Given the description of an element on the screen output the (x, y) to click on. 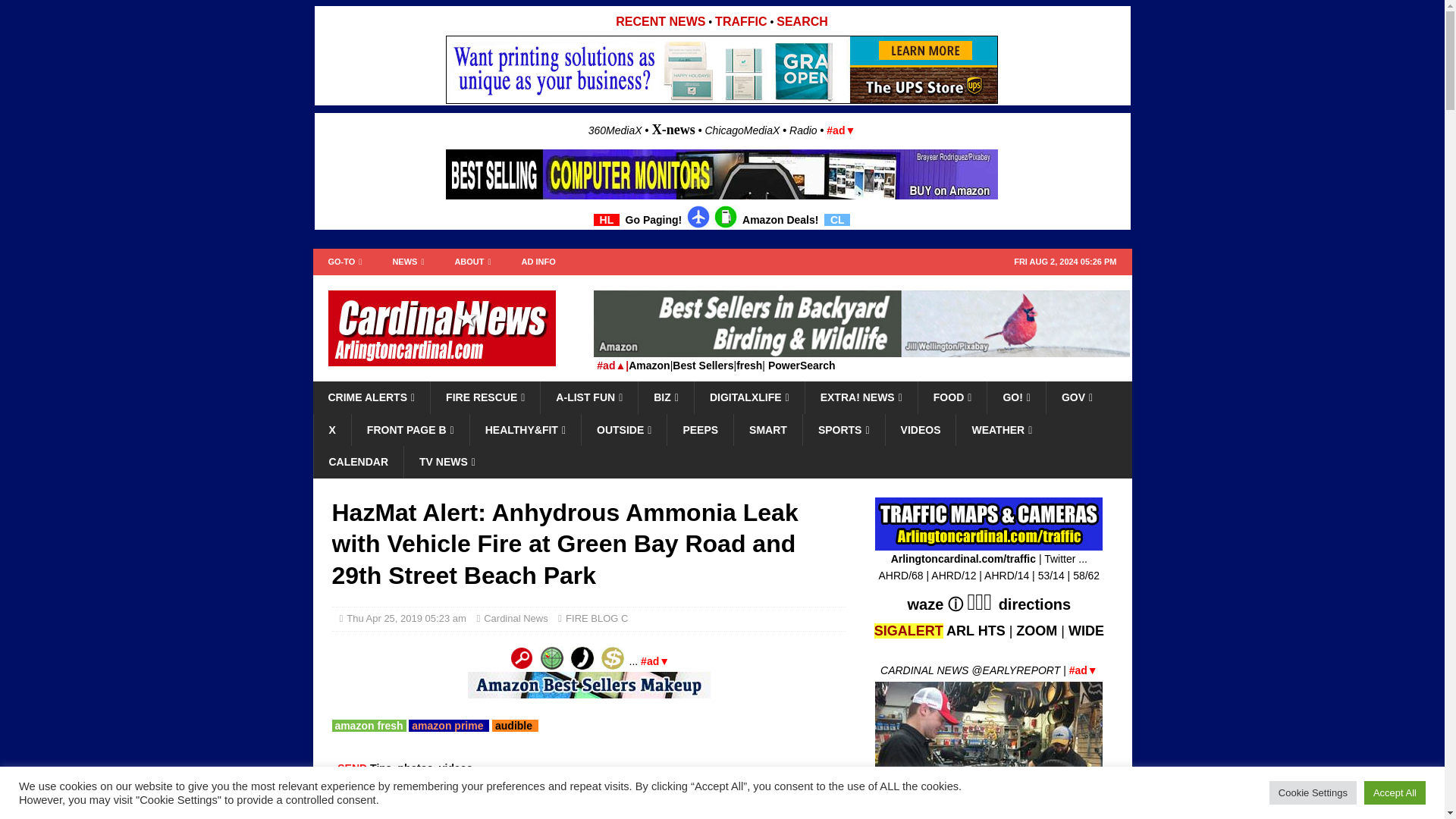
Go Paging! (654, 219)
  HL   (607, 219)
360MediaX (616, 130)
RECENT NEWS (659, 21)
Radio (802, 130)
SEARCH (802, 21)
TRAFFIC (740, 21)
X-news (673, 129)
  CL   (837, 219)
ChicagoMediaX (742, 130)
Amazon Deals! (780, 219)
